Given the description of an element on the screen output the (x, y) to click on. 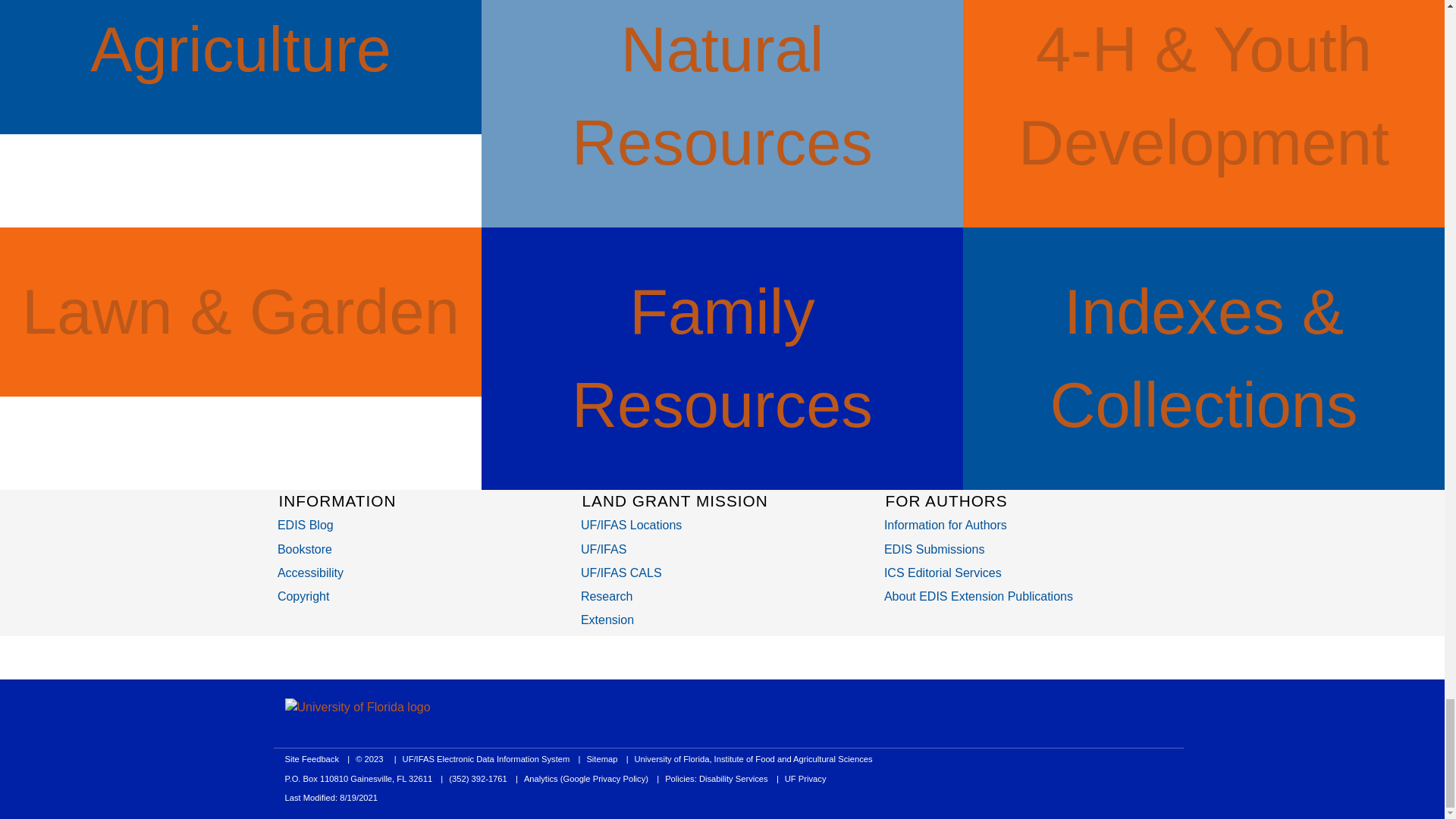
Natural Resources (722, 96)
Copyright (303, 595)
Author Resources (945, 524)
EDIS Blog (305, 524)
Extension (606, 619)
Family Resources (722, 358)
EDIS Blog (305, 524)
Accessibility (310, 572)
Agriculture (240, 49)
Accessibility (310, 572)
